Given the description of an element on the screen output the (x, y) to click on. 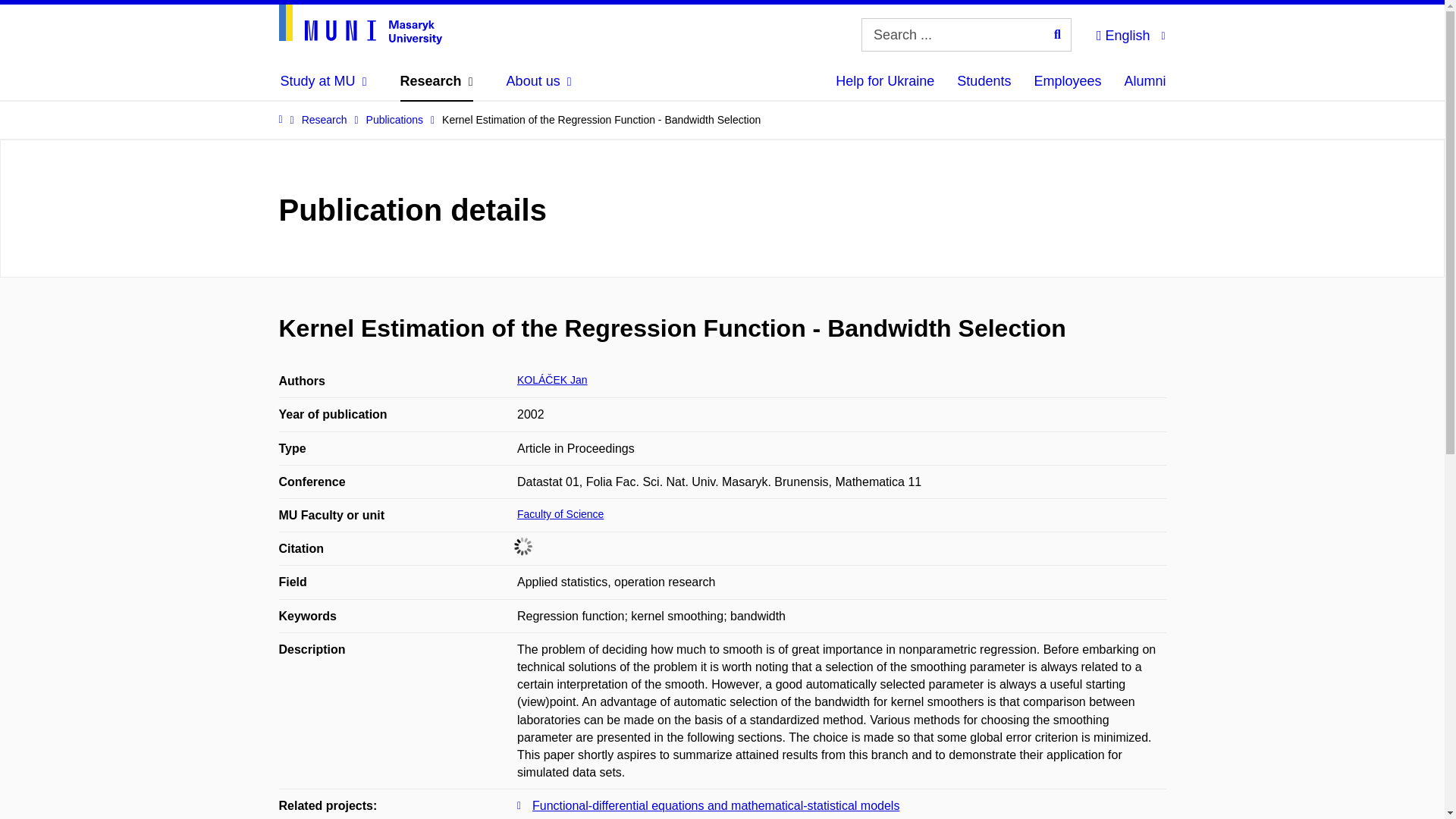
Research (436, 80)
Study at MU (323, 80)
English (1130, 34)
Homepage site (360, 24)
